Given the description of an element on the screen output the (x, y) to click on. 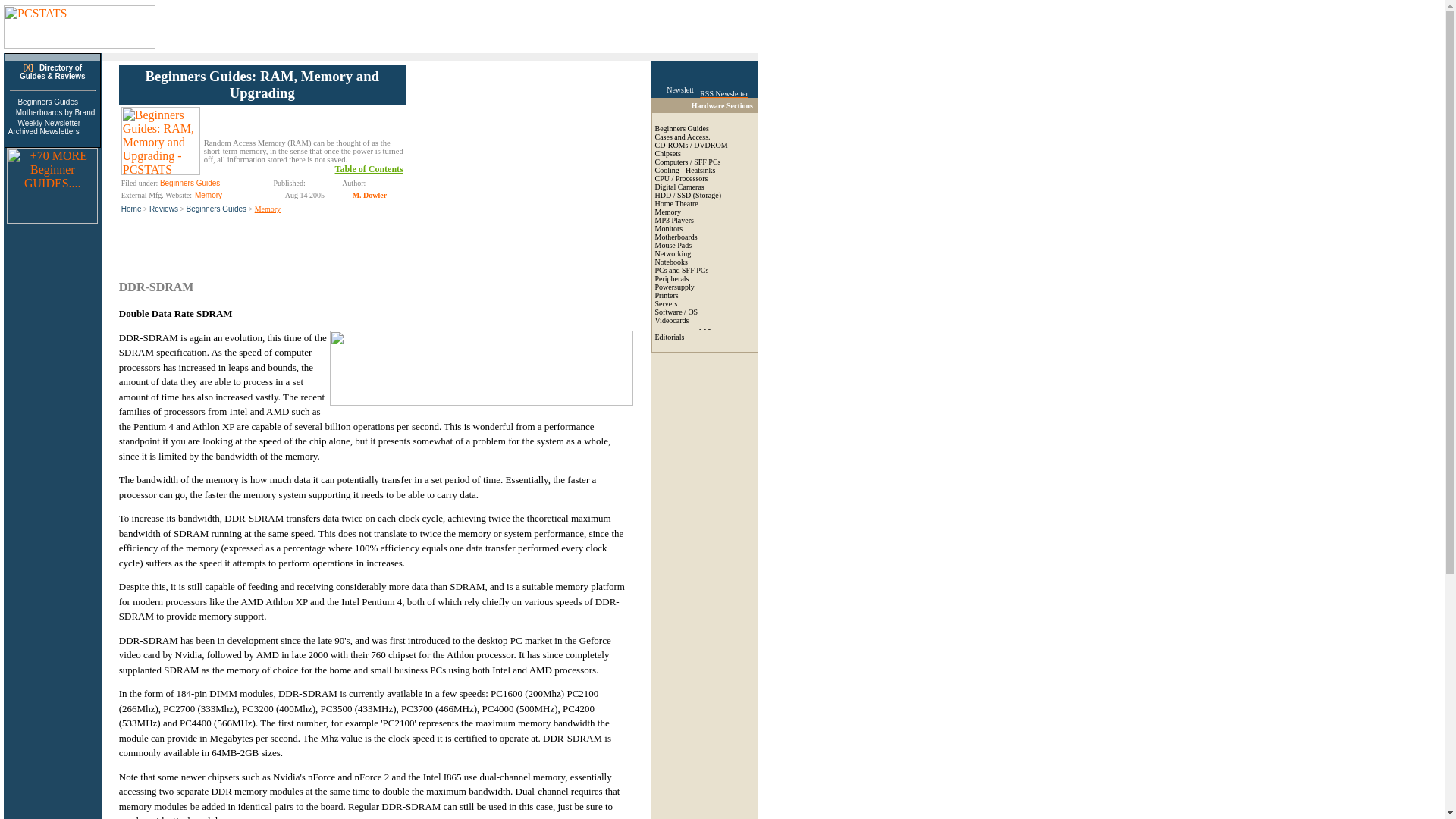
Memory (208, 194)
Memory (668, 212)
Digital Cameras (679, 186)
Reviews (163, 208)
Beginners Guides (682, 128)
Beginners Guides (47, 101)
Table of Contents (368, 168)
Beginners Guides: RAM, Memory and Upgrading (261, 83)
Monitors (668, 228)
Home Theatre (676, 203)
